Given the description of an element on the screen output the (x, y) to click on. 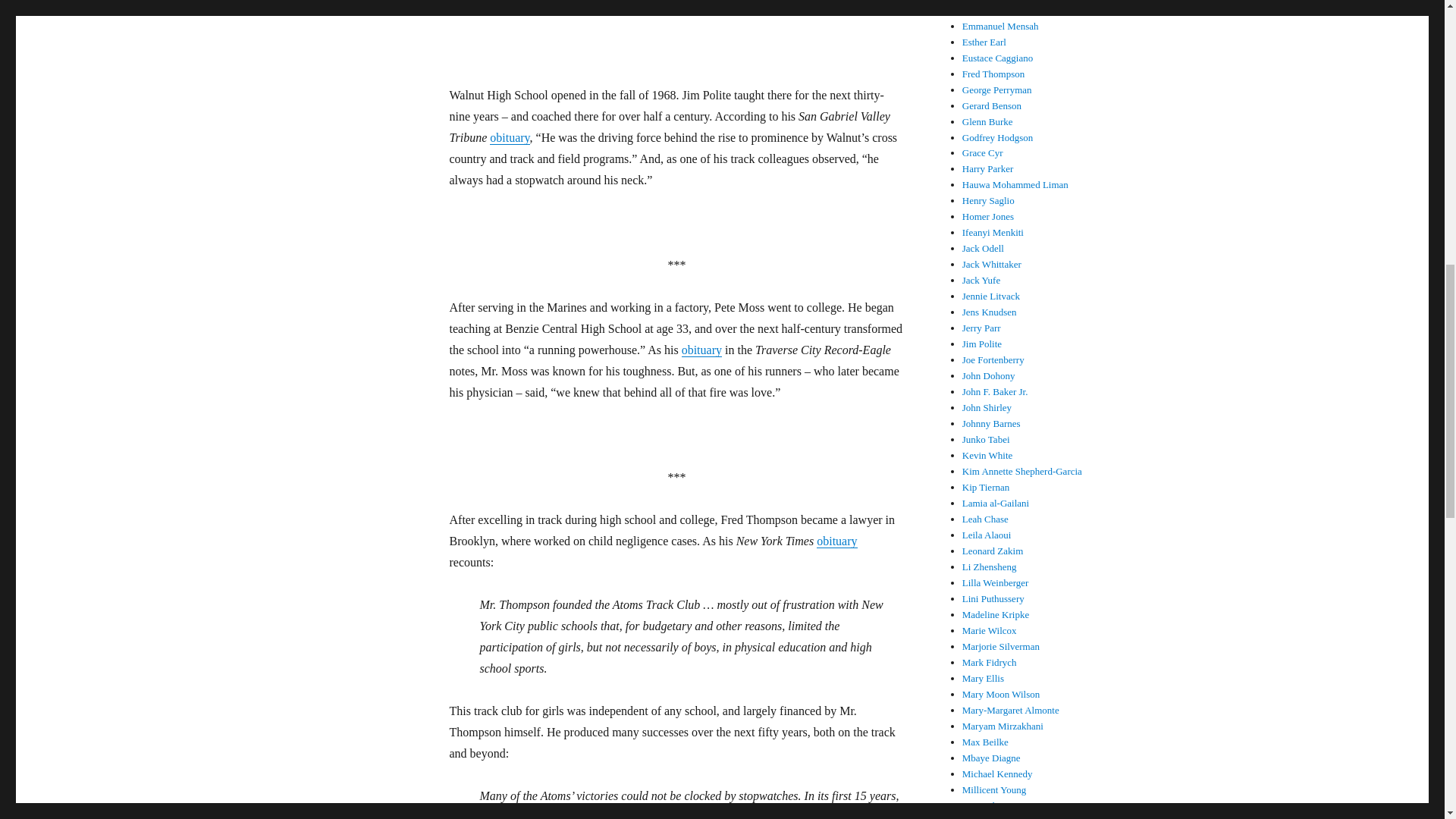
Edward Walsh (991, 9)
obituary (509, 137)
obituary (836, 540)
obituary (701, 349)
